Given the description of an element on the screen output the (x, y) to click on. 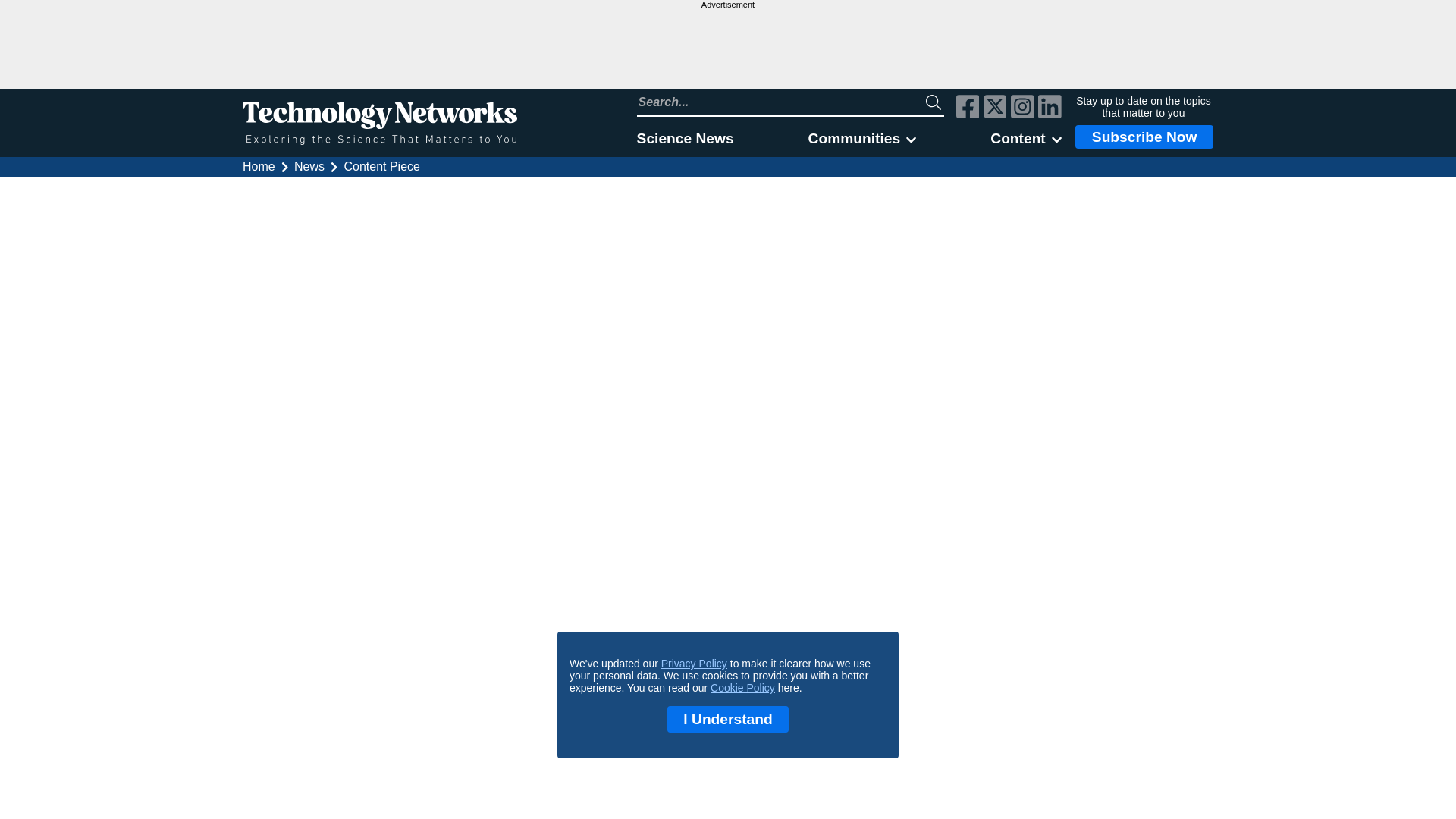
Technology Networks logo a link to home page (379, 122)
Cookie Policy (742, 687)
Search Technology Networks website input field (781, 102)
I Understand (727, 718)
Privacy Policy (693, 663)
